Given the description of an element on the screen output the (x, y) to click on. 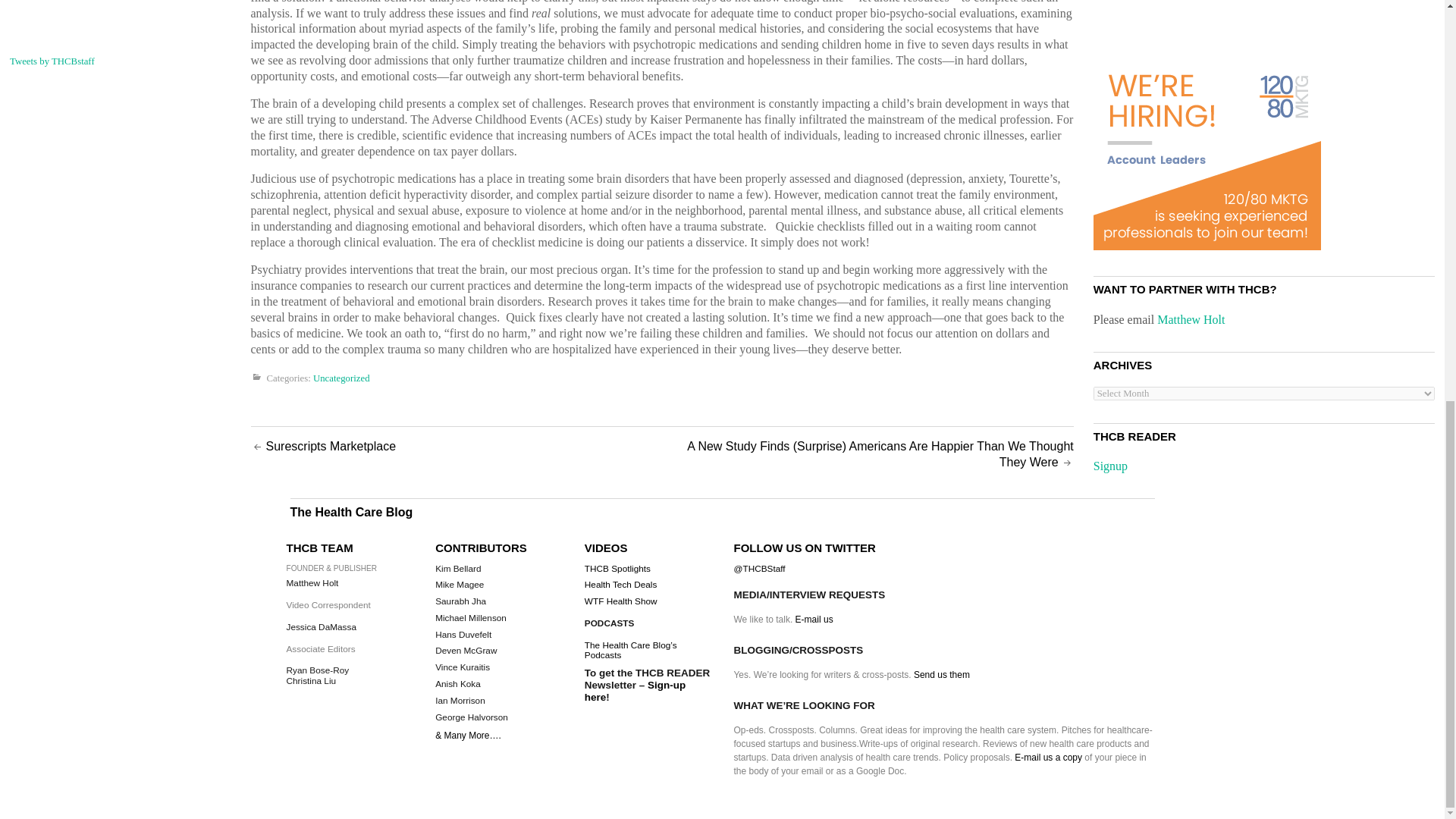
Tweets by THCBstaff (52, 61)
Matthew Holt (1190, 318)
Uncategorized (341, 378)
Health Tech Deals (621, 584)
Shiv Rao, CEO demos Abridge (120, 14)
THCB Spotlights (617, 568)
Signup (1109, 465)
Surescripts Marketplace (330, 445)
WTF Health Show (621, 601)
